Given the description of an element on the screen output the (x, y) to click on. 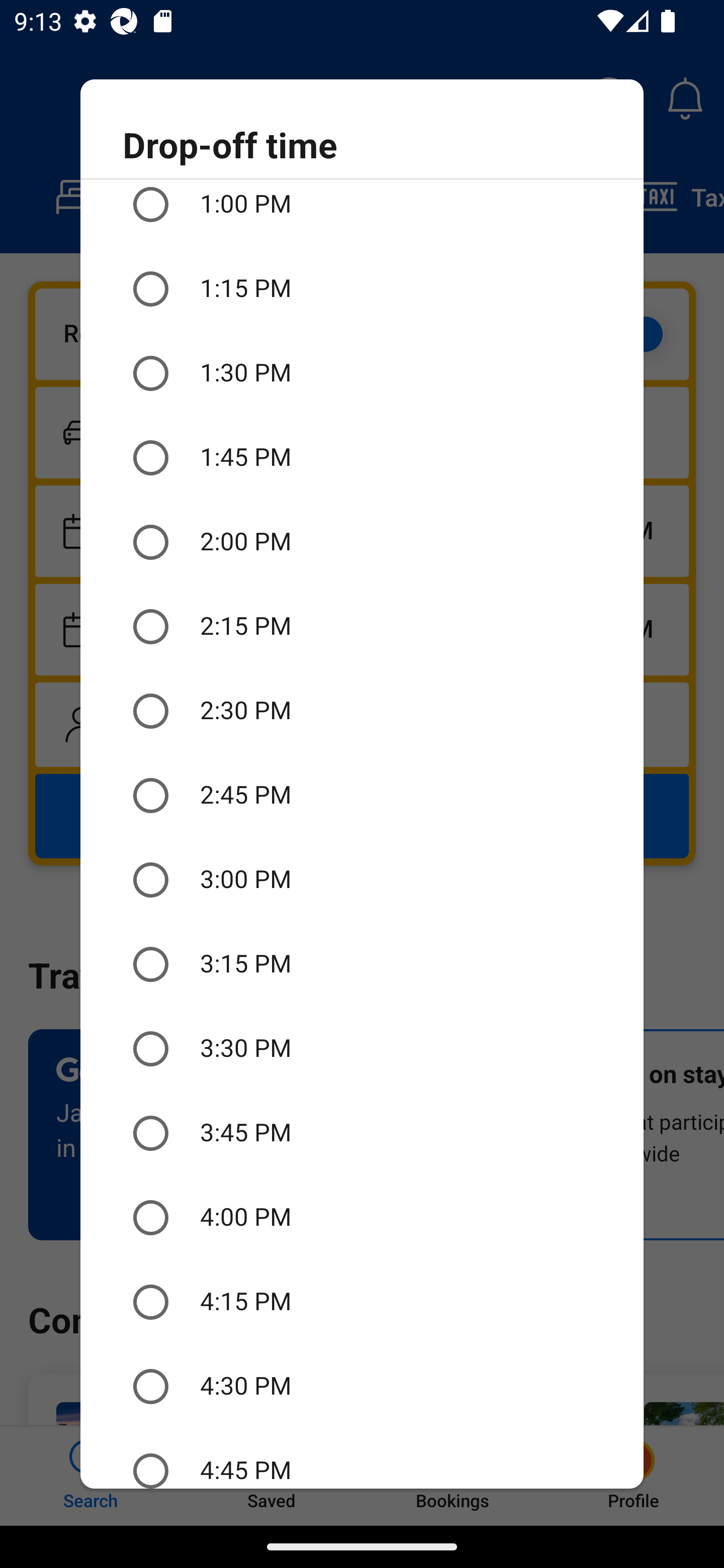
1:00 PM (361, 213)
1:15 PM (361, 288)
1:30 PM (361, 372)
1:45 PM (361, 457)
2:00 PM (361, 542)
2:15 PM (361, 626)
2:30 PM (361, 710)
2:45 PM (361, 794)
3:00 PM (361, 879)
3:15 PM (361, 963)
3:30 PM (361, 1048)
3:45 PM (361, 1133)
4:00 PM (361, 1218)
4:15 PM (361, 1301)
4:30 PM (361, 1385)
4:45 PM (361, 1458)
